Given the description of an element on the screen output the (x, y) to click on. 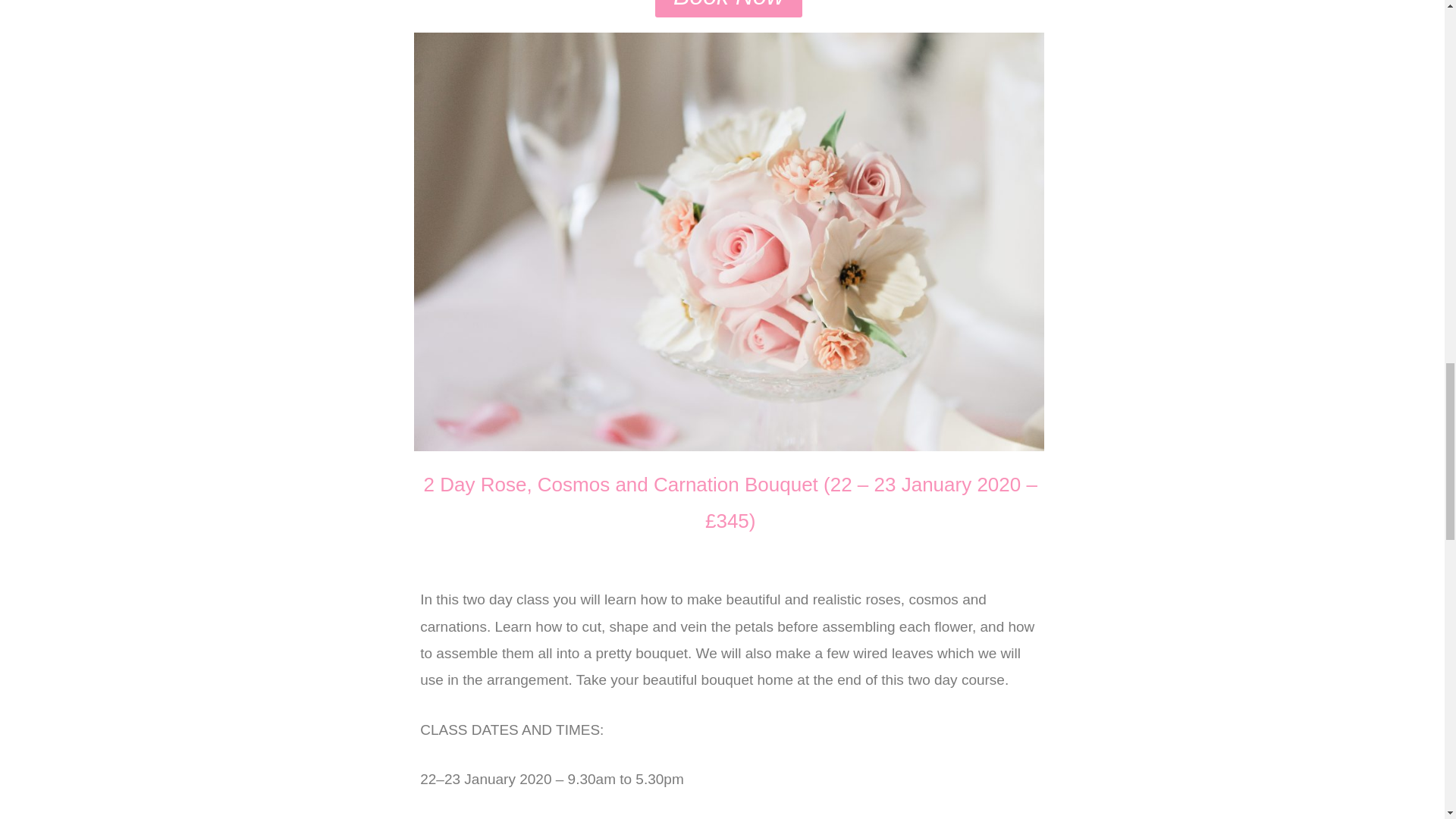
Book Now (728, 8)
